Given the description of an element on the screen output the (x, y) to click on. 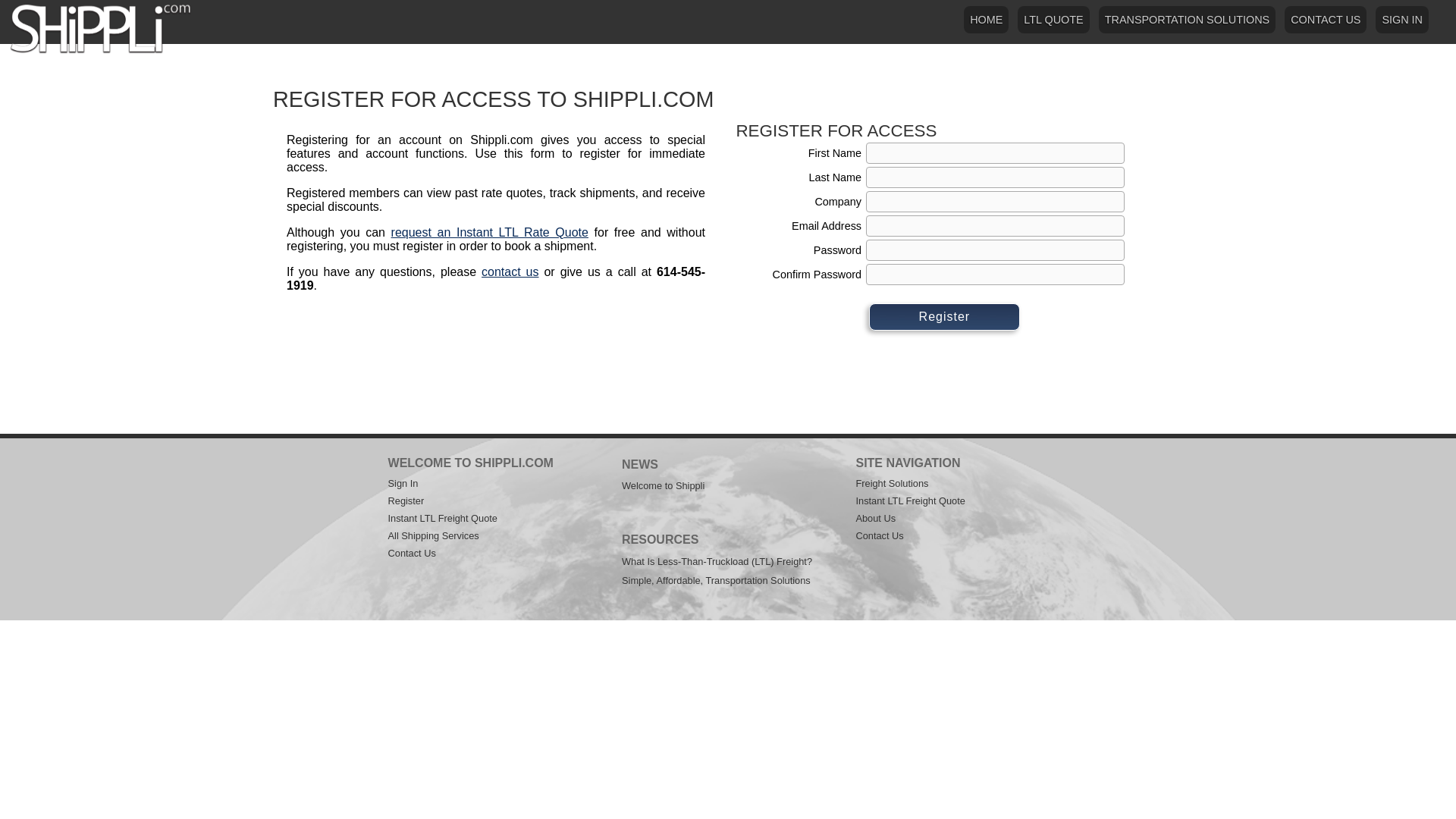
Sign In (1401, 19)
All Shipping Services (433, 535)
RESOURCES (659, 539)
Instant LTL Freight Quote (442, 518)
Instant LTL Freight Quote (909, 500)
Register (944, 316)
Register (944, 316)
Freight Solutions (892, 482)
Contact Us (411, 552)
Freight Solutions (433, 535)
Contact Us (879, 535)
Simple, Affordable, Transportation Solutions (715, 580)
NEWS (639, 463)
Register (406, 500)
request an Instant LTL Rate Quote (489, 232)
